Given the description of an element on the screen output the (x, y) to click on. 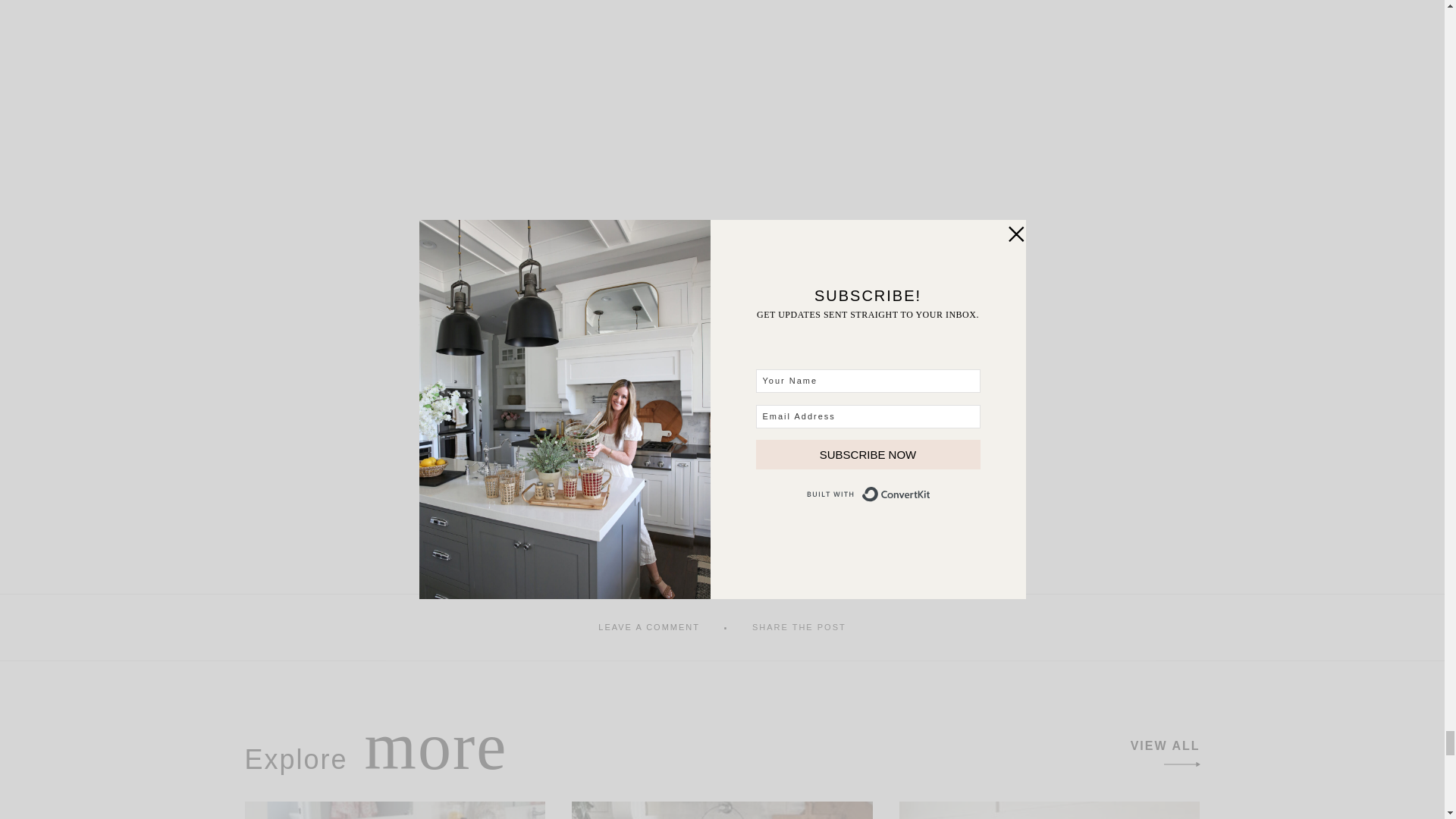
LEAVE A COMMENT (649, 626)
